Given the description of an element on the screen output the (x, y) to click on. 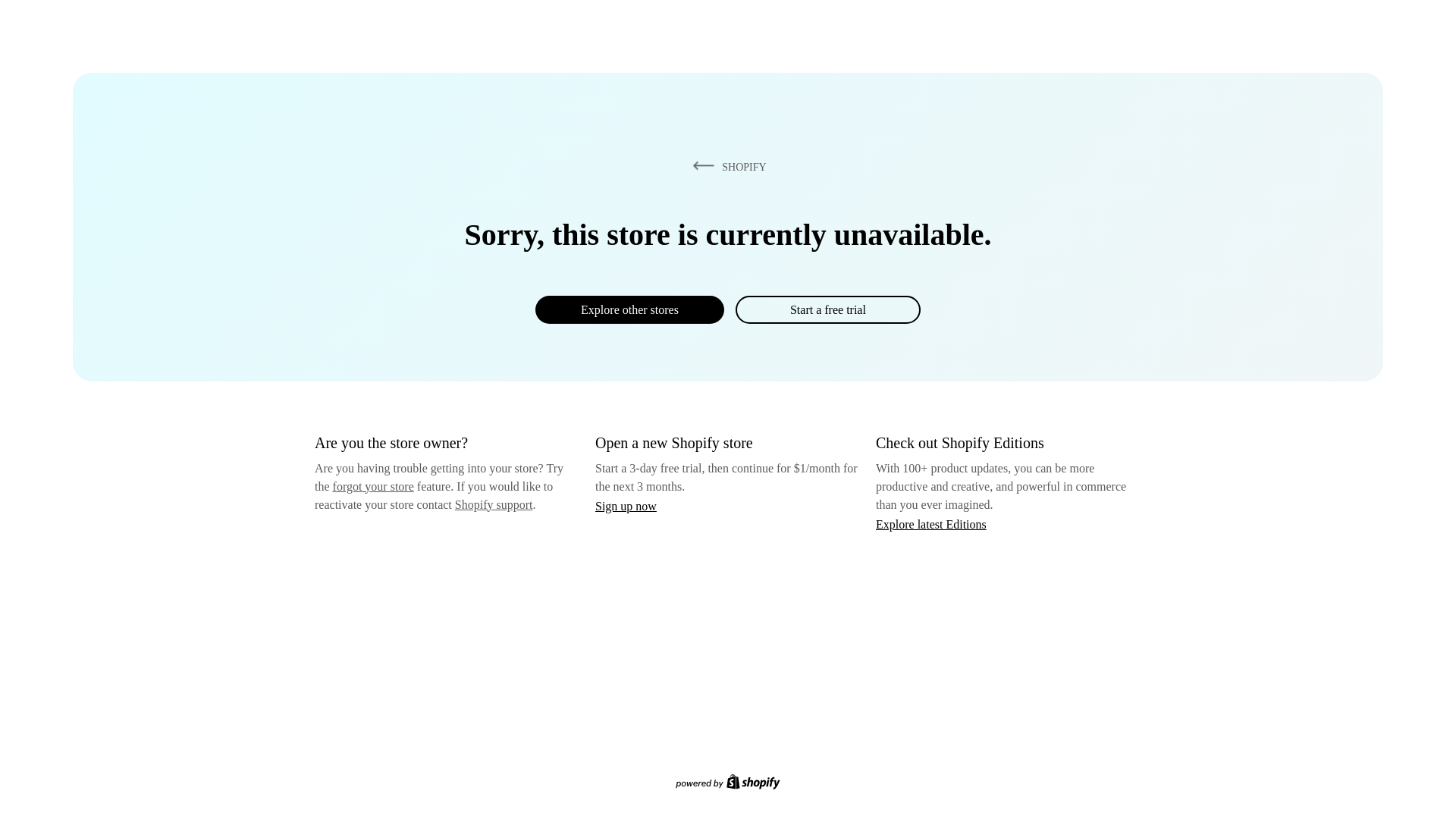
SHOPIFY (726, 166)
Explore latest Editions (931, 523)
Shopify support (493, 504)
forgot your store (373, 486)
Sign up now (625, 505)
Explore other stores (629, 309)
Start a free trial (827, 309)
